Given the description of an element on the screen output the (x, y) to click on. 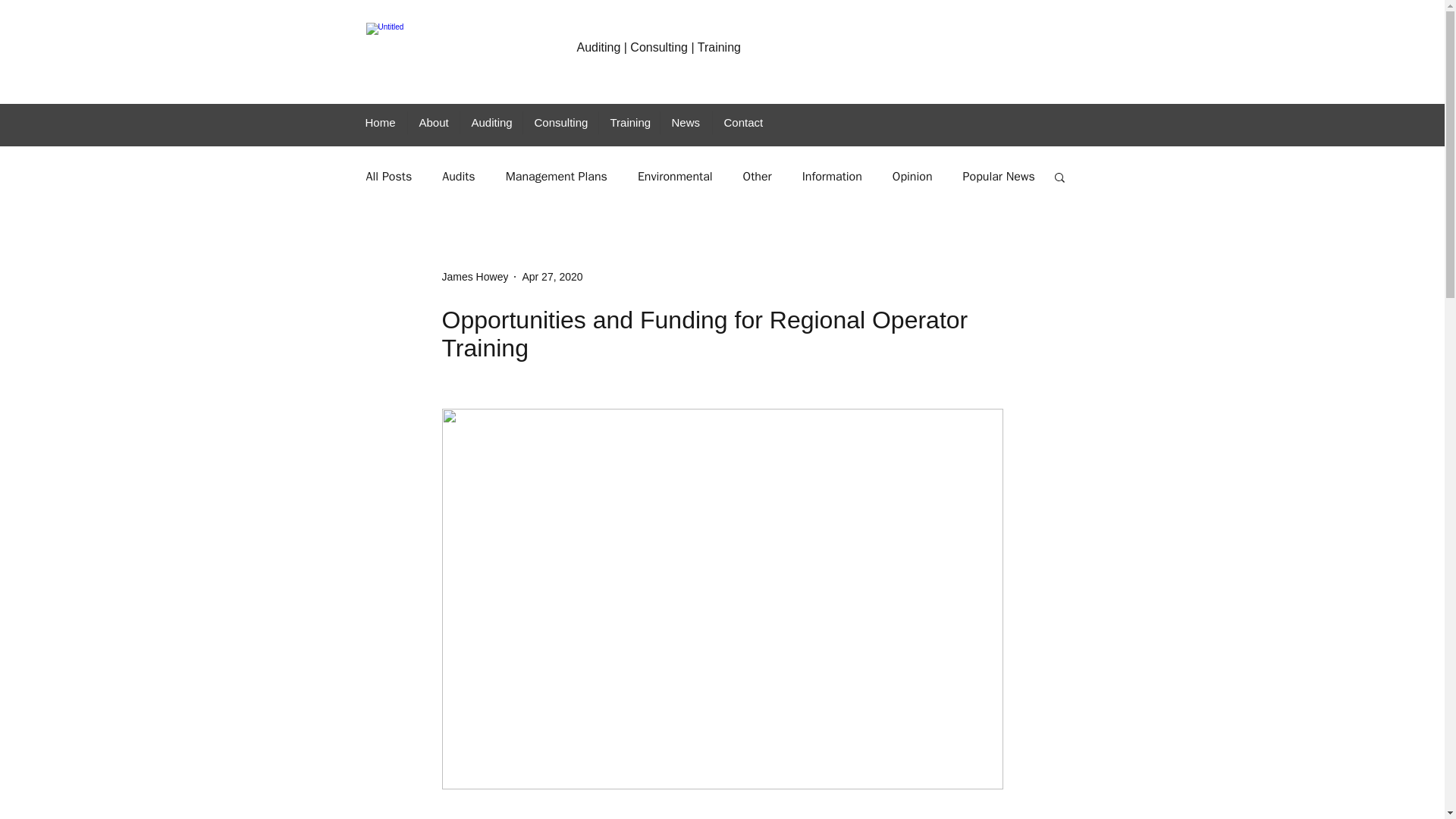
Audits (458, 176)
News (685, 122)
Environmental (675, 176)
Popular News (998, 176)
Other (756, 176)
James Howey (474, 276)
Information (831, 176)
Auditing (491, 122)
Training (627, 122)
Management Plans (556, 176)
Apr 27, 2020 (551, 275)
All Posts (388, 176)
Contact (742, 122)
Home (379, 122)
Opinion (912, 176)
